Given the description of an element on the screen output the (x, y) to click on. 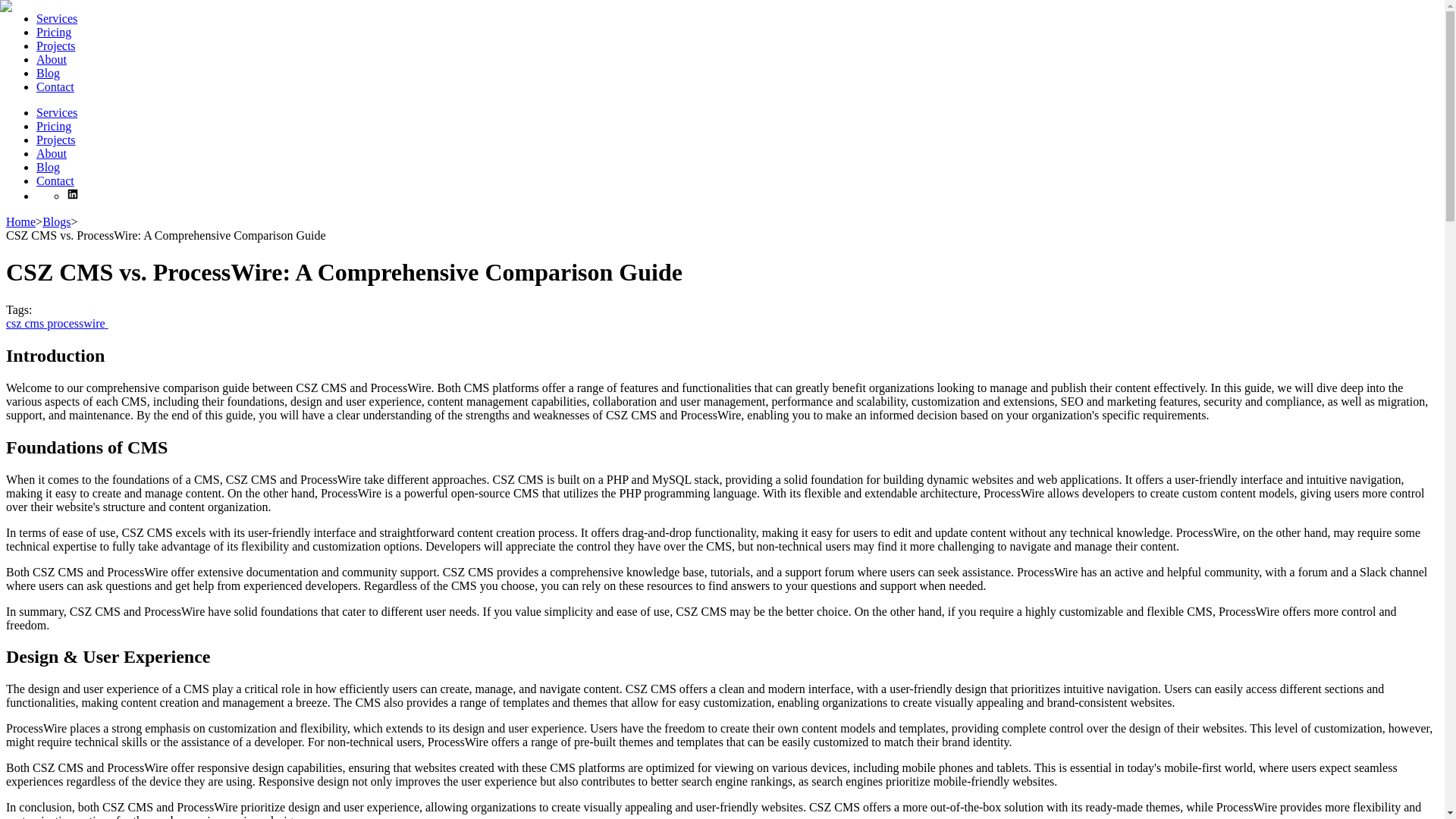
About (51, 59)
Blogs (55, 221)
processwire  (76, 323)
Contact (55, 86)
Pricing (53, 31)
Services (56, 18)
Services (56, 112)
Home (19, 221)
csz cms  (25, 323)
About (51, 153)
Contact (55, 180)
Projects (55, 139)
Projects (55, 45)
Blog (47, 166)
Blog (47, 72)
